Given the description of an element on the screen output the (x, y) to click on. 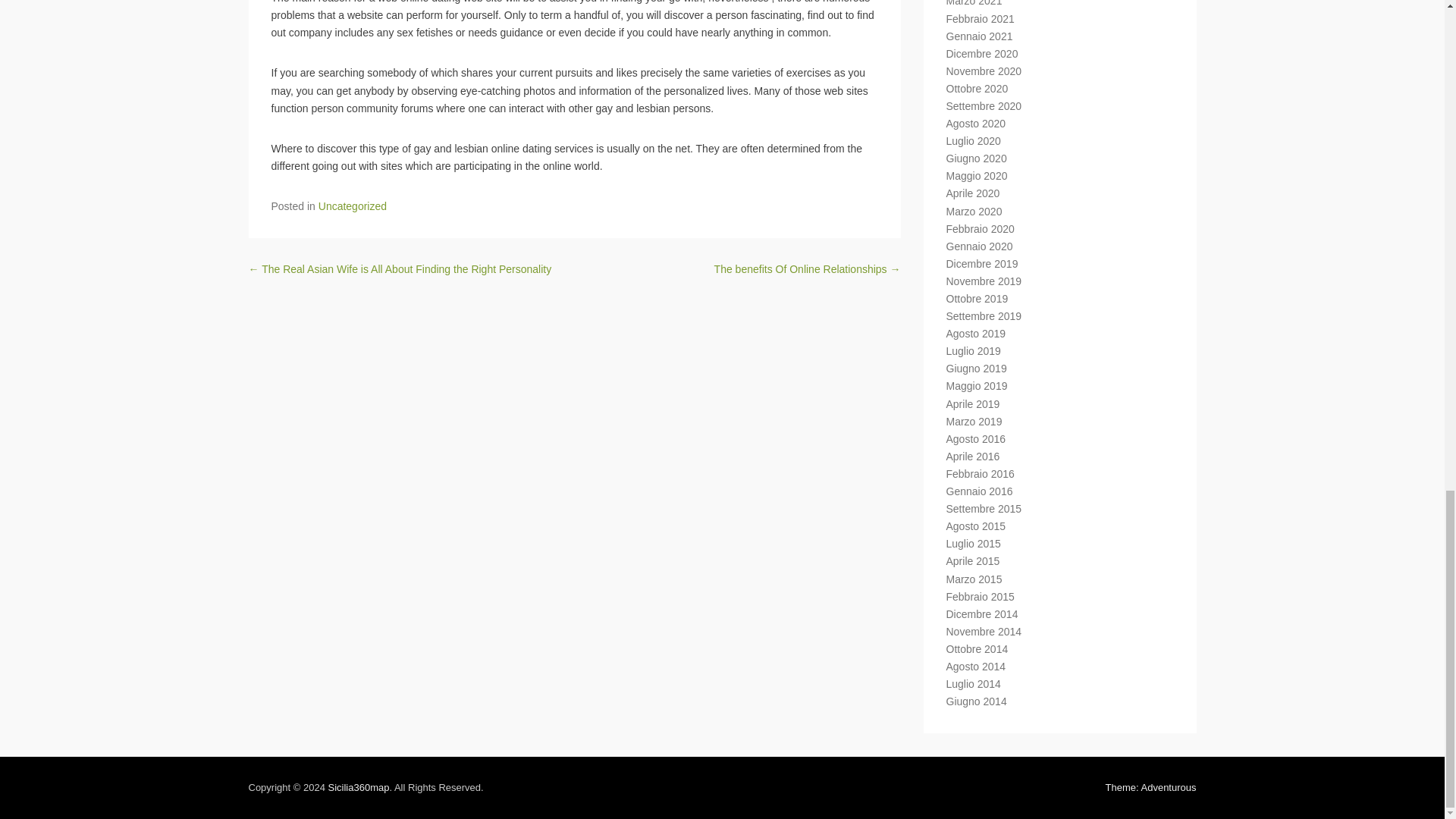
Sicilia360map (357, 787)
Adventurous (1150, 787)
